Given the description of an element on the screen output the (x, y) to click on. 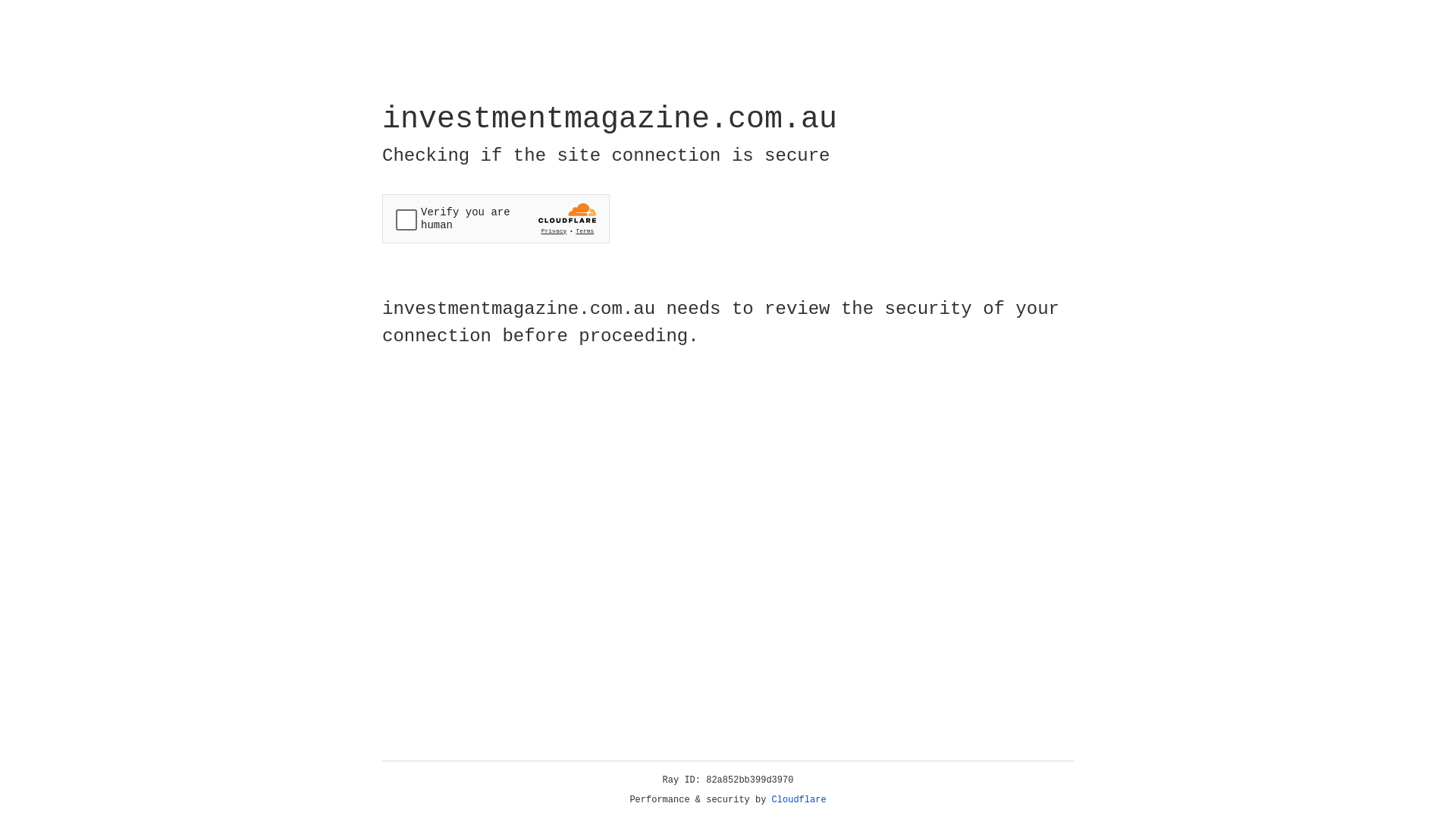
Widget containing a Cloudflare security challenge Element type: hover (495, 218)
Cloudflare Element type: text (798, 799)
